Given the description of an element on the screen output the (x, y) to click on. 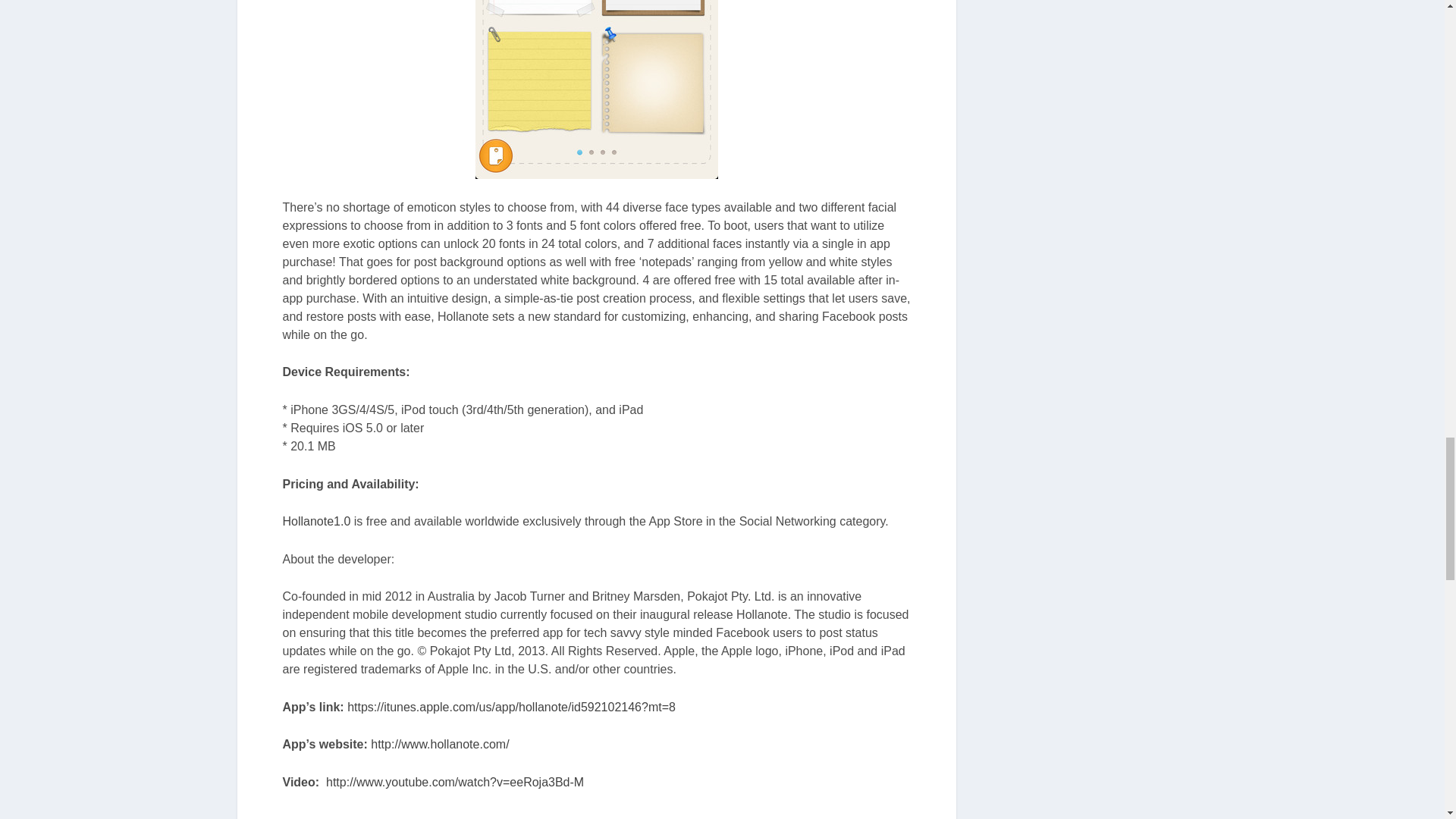
Hollanote1.0 (316, 521)
